Given the description of an element on the screen output the (x, y) to click on. 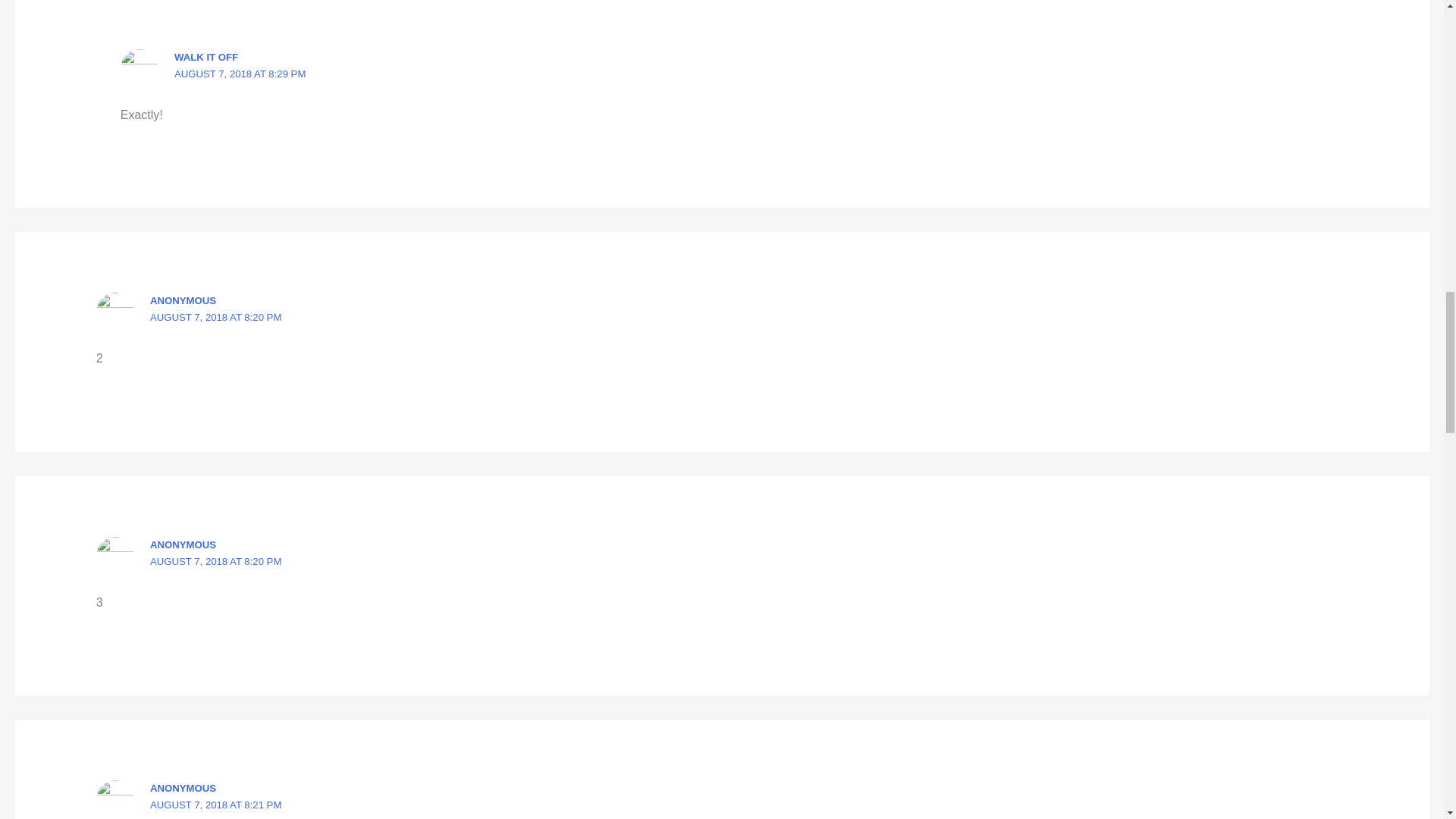
ANONYMOUS (182, 300)
WALK IT OFF (206, 57)
ANONYMOUS (182, 787)
AUGUST 7, 2018 AT 8:20 PM (215, 561)
AUGUST 7, 2018 AT 8:20 PM (215, 317)
ANONYMOUS (182, 544)
AUGUST 7, 2018 AT 8:21 PM (215, 804)
AUGUST 7, 2018 AT 8:29 PM (239, 73)
